Given the description of an element on the screen output the (x, y) to click on. 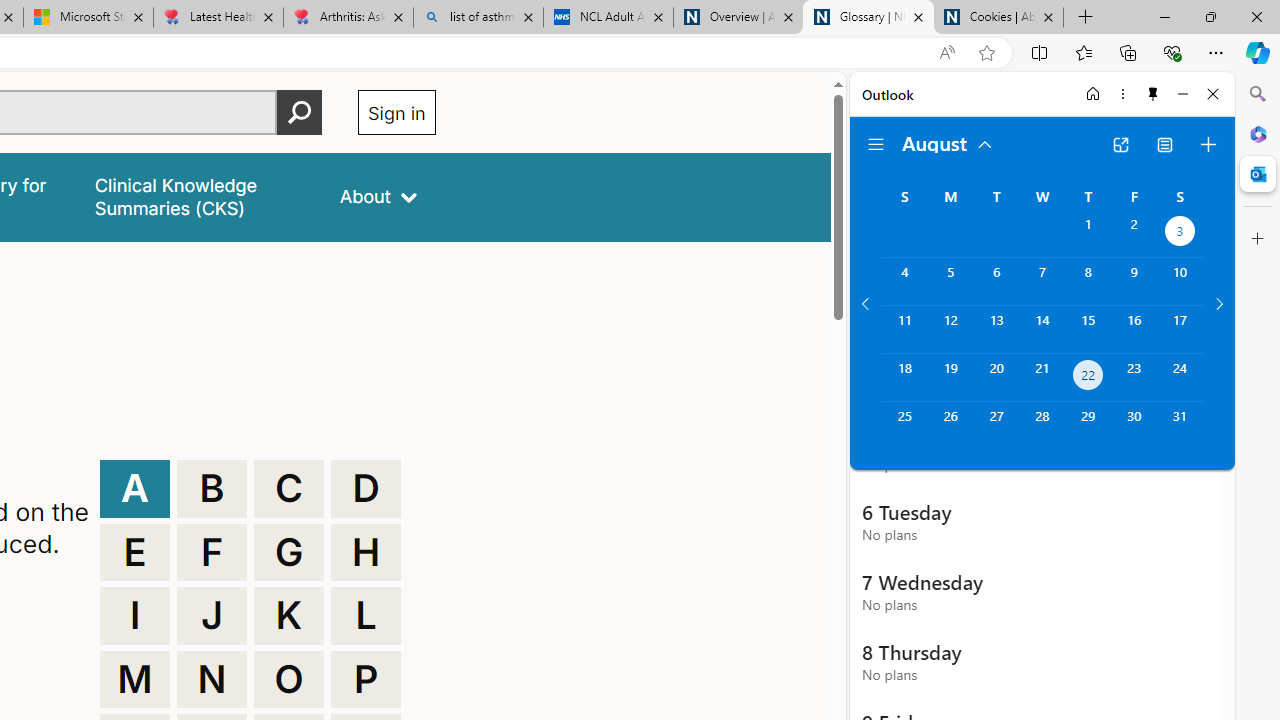
Monday, August 12, 2024.  (950, 329)
E (134, 551)
Friday, August 2, 2024.  (1134, 233)
B (212, 488)
Saturday, August 31, 2024.  (1180, 425)
P (365, 679)
F (212, 551)
J (212, 615)
Create event (1208, 144)
